Given the description of an element on the screen output the (x, y) to click on. 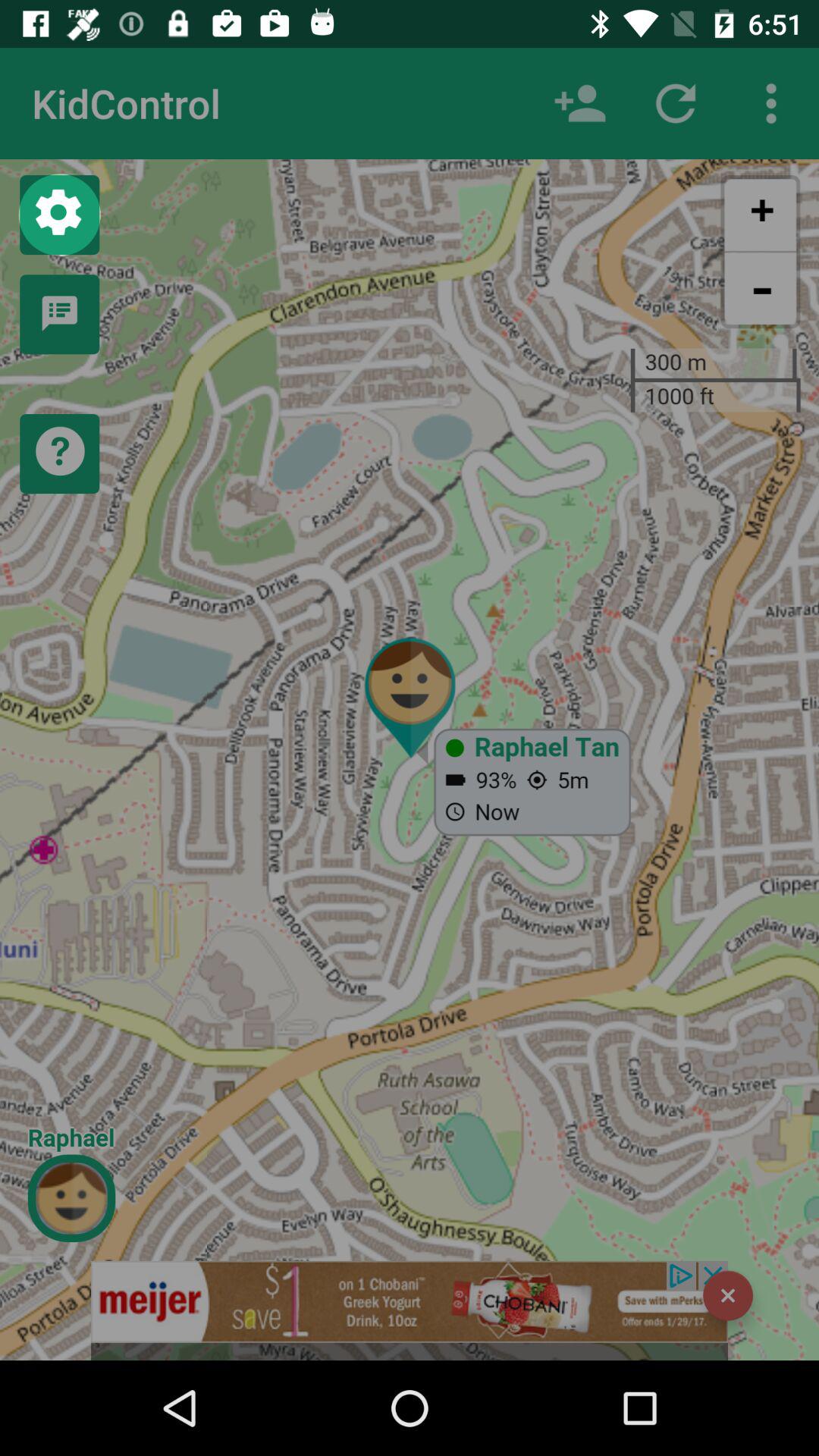
advertisement (409, 1310)
